Given the description of an element on the screen output the (x, y) to click on. 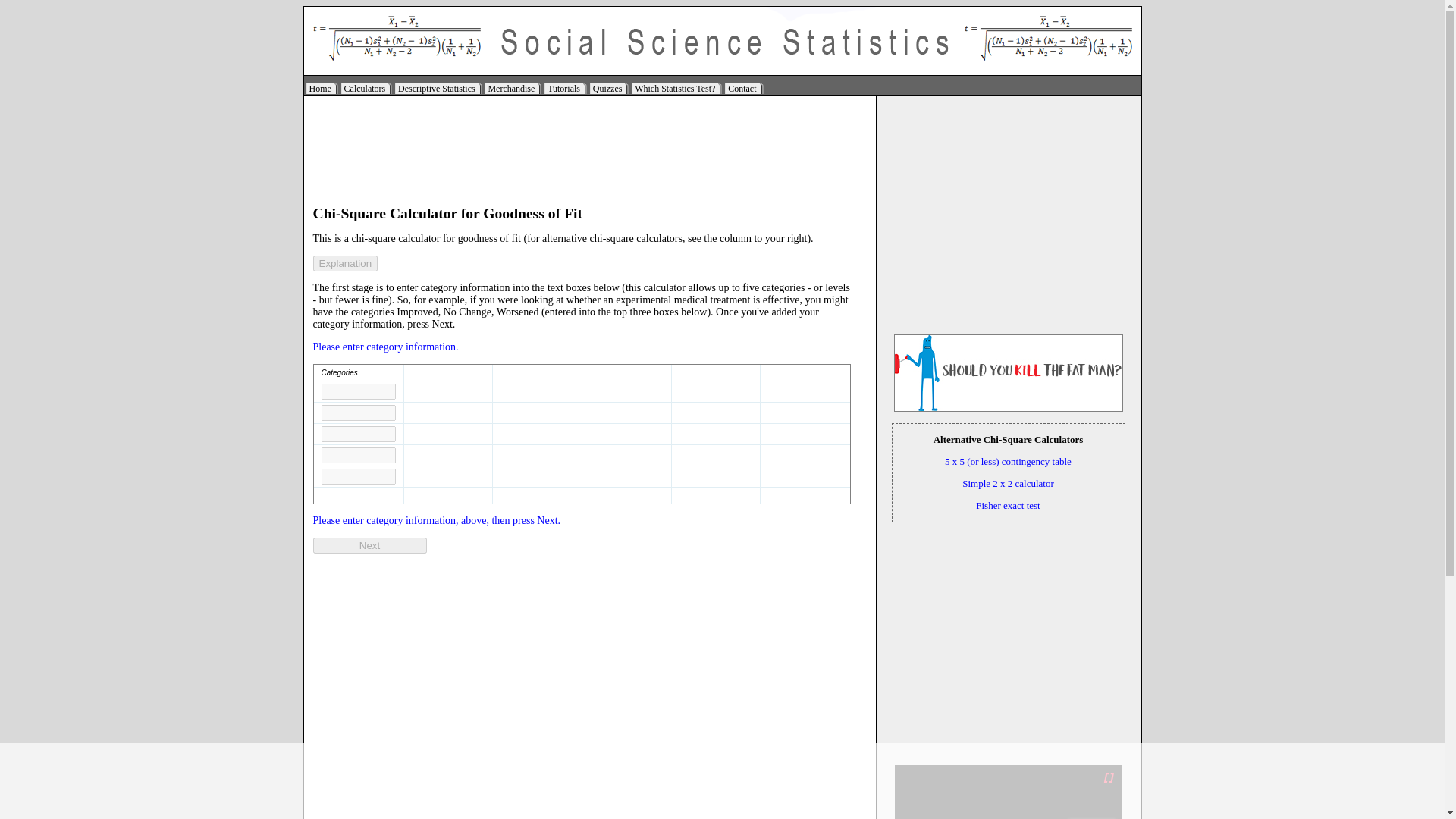
Simple 2 x 2 calculator (1008, 482)
3rd party ad content (1008, 639)
Fisher exact test (1007, 505)
Tutorials (565, 88)
3rd party ad content (1008, 217)
Explanation (345, 263)
3rd party ad content (151, 409)
Home (321, 88)
3rd party ad content (588, 148)
Which Statistics Test? (676, 88)
Quizzes (608, 88)
Calculators (366, 88)
Next (369, 545)
3rd party ad content (721, 785)
